Given the description of an element on the screen output the (x, y) to click on. 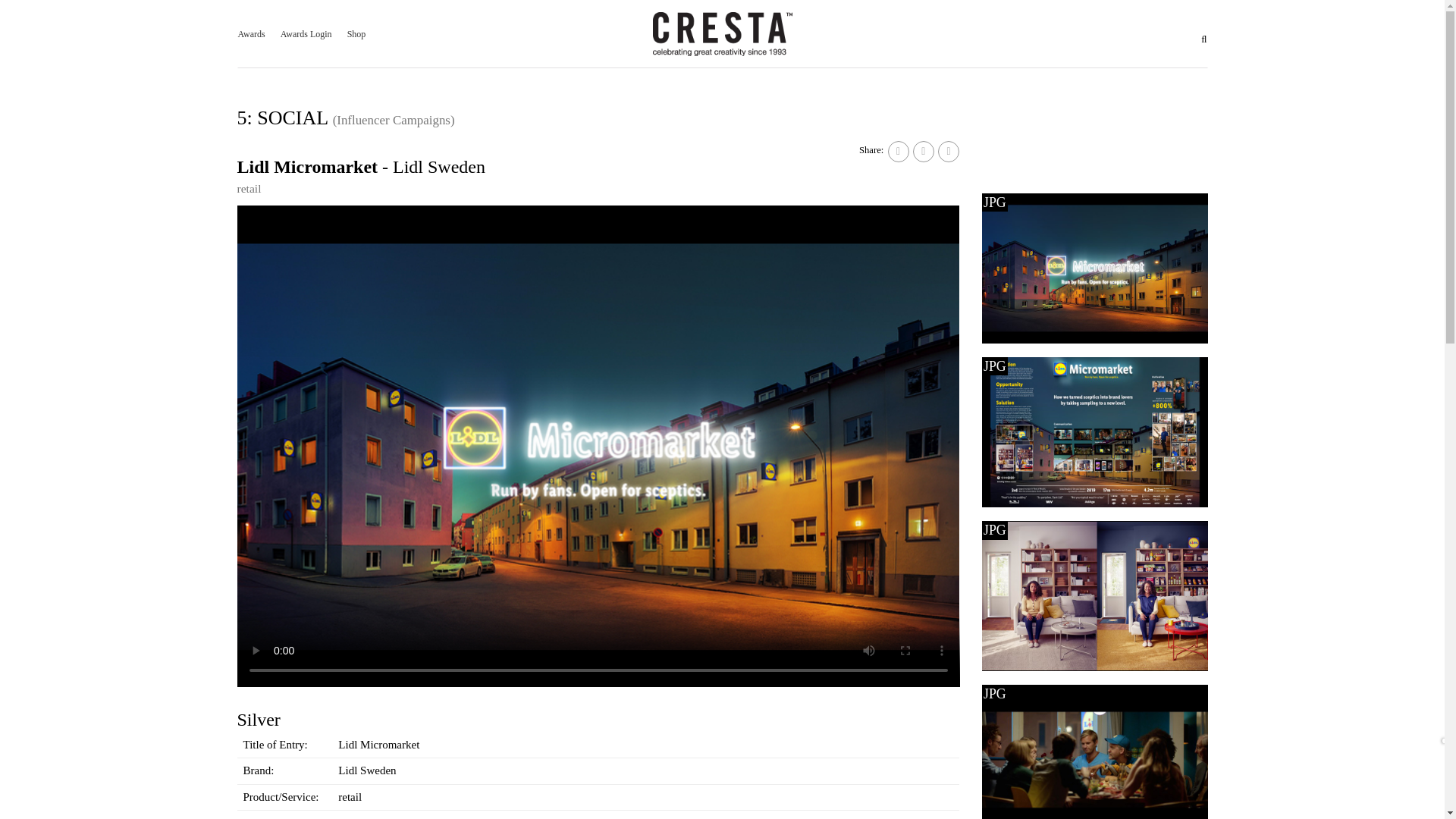
Awards (251, 33)
Shop (356, 33)
Awards Login (306, 33)
